Given the description of an element on the screen output the (x, y) to click on. 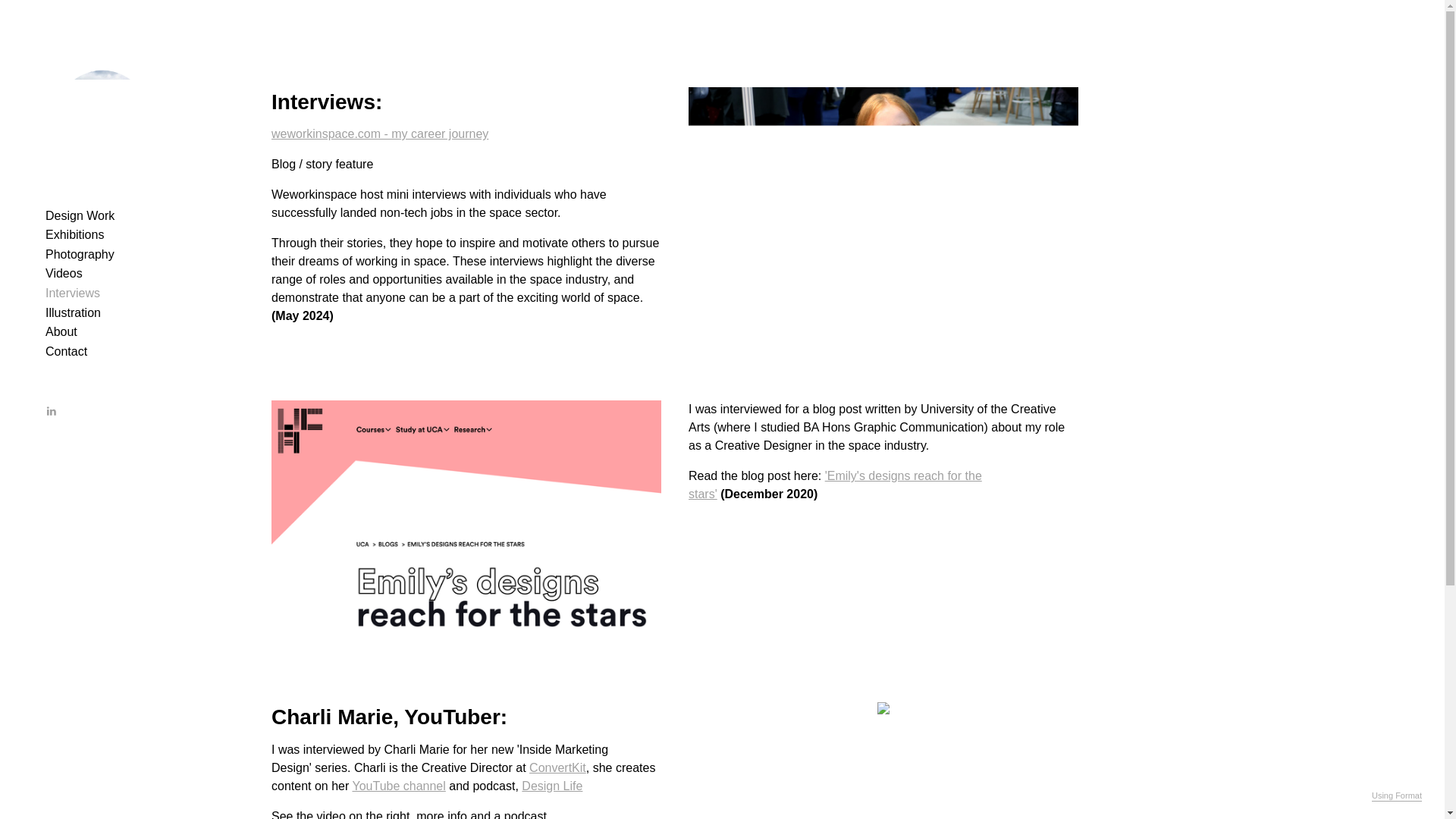
Photography (80, 254)
Contact (66, 350)
weworkinspace.com - my career journey (378, 133)
Illustration (72, 312)
Design Life (551, 785)
Design Work (80, 215)
ConvertKit (557, 767)
Interviews (72, 292)
Exhibitions (74, 234)
'Emily's designs reach for the stars' (834, 484)
Videos (63, 273)
Using Format (1396, 796)
YouTube channel (398, 785)
About (61, 331)
